Given the description of an element on the screen output the (x, y) to click on. 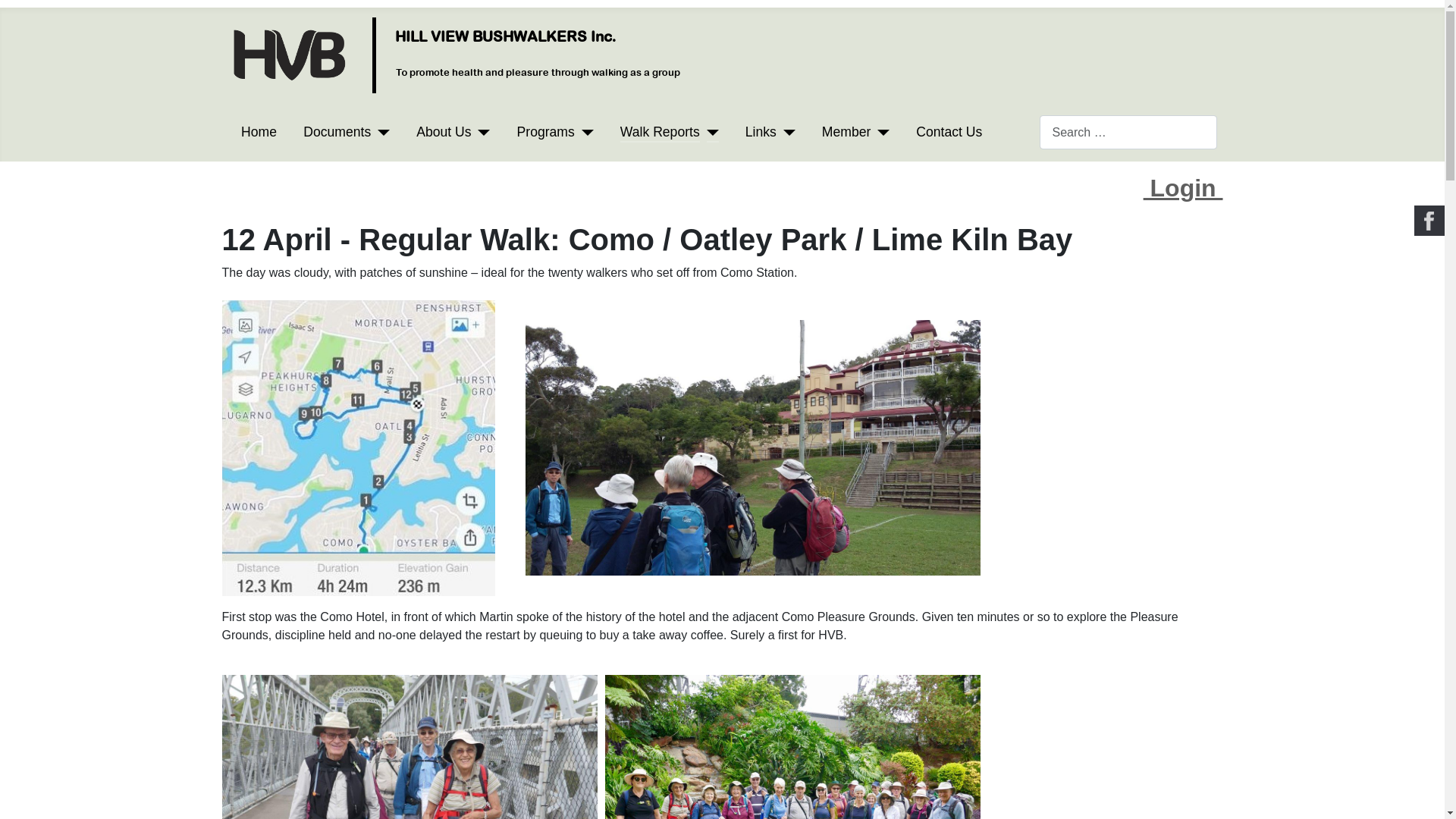
Walk Reports Element type: text (659, 131)
Links Element type: text (770, 131)
Home Element type: text (258, 131)
Member Element type: text (855, 131)
Contact Us Element type: text (949, 131)
 Login  Element type: text (1183, 187)
About Us Element type: text (443, 131)
Programs Element type: text (555, 131)
Documents Element type: text (346, 131)
